Given the description of an element on the screen output the (x, y) to click on. 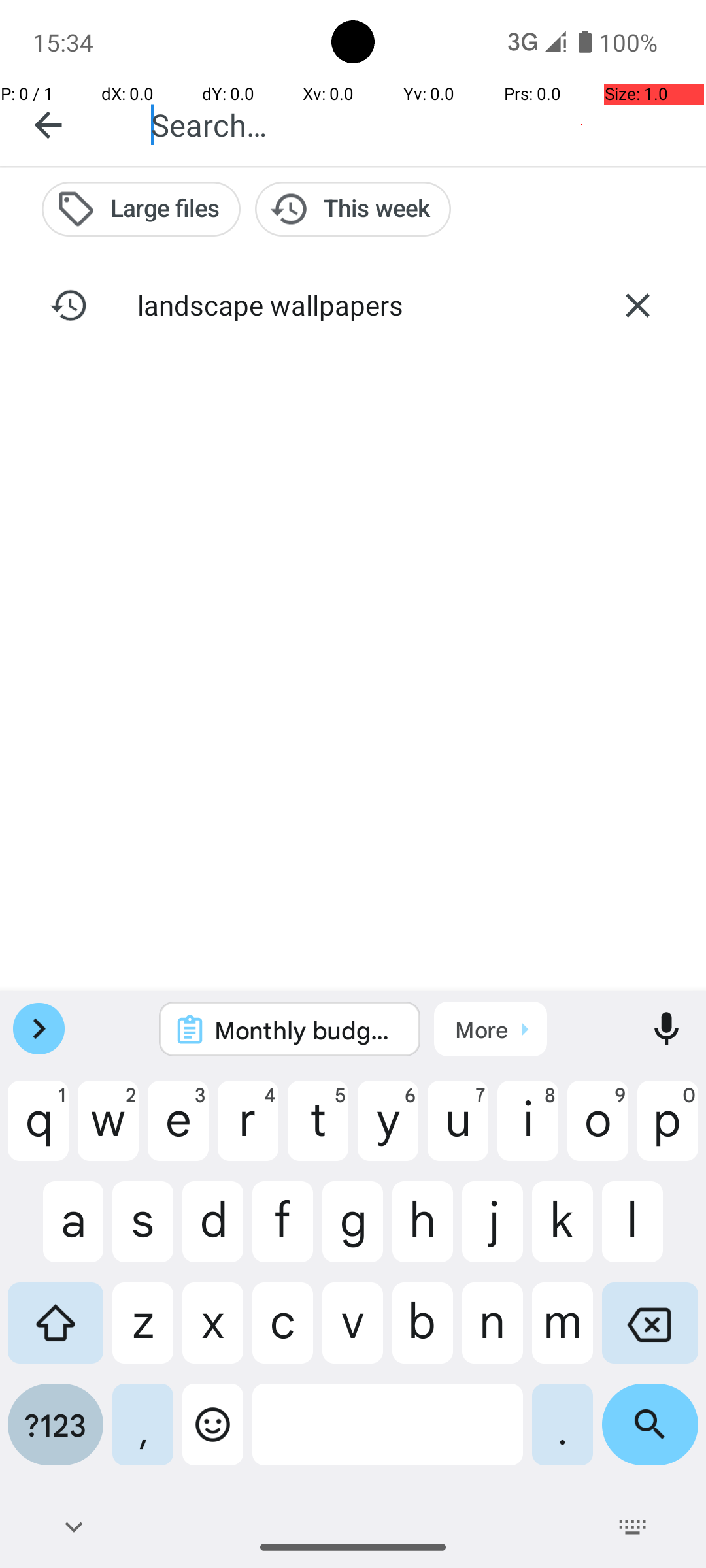
landscape wallpapers Element type: android.widget.TextView (352, 304)
Delete search history landscape wallpapers Element type: android.widget.ImageView (637, 304)
Monthly budget meeting pushed to Friday. Element type: android.widget.TextView (306, 1029)
